Given the description of an element on the screen output the (x, y) to click on. 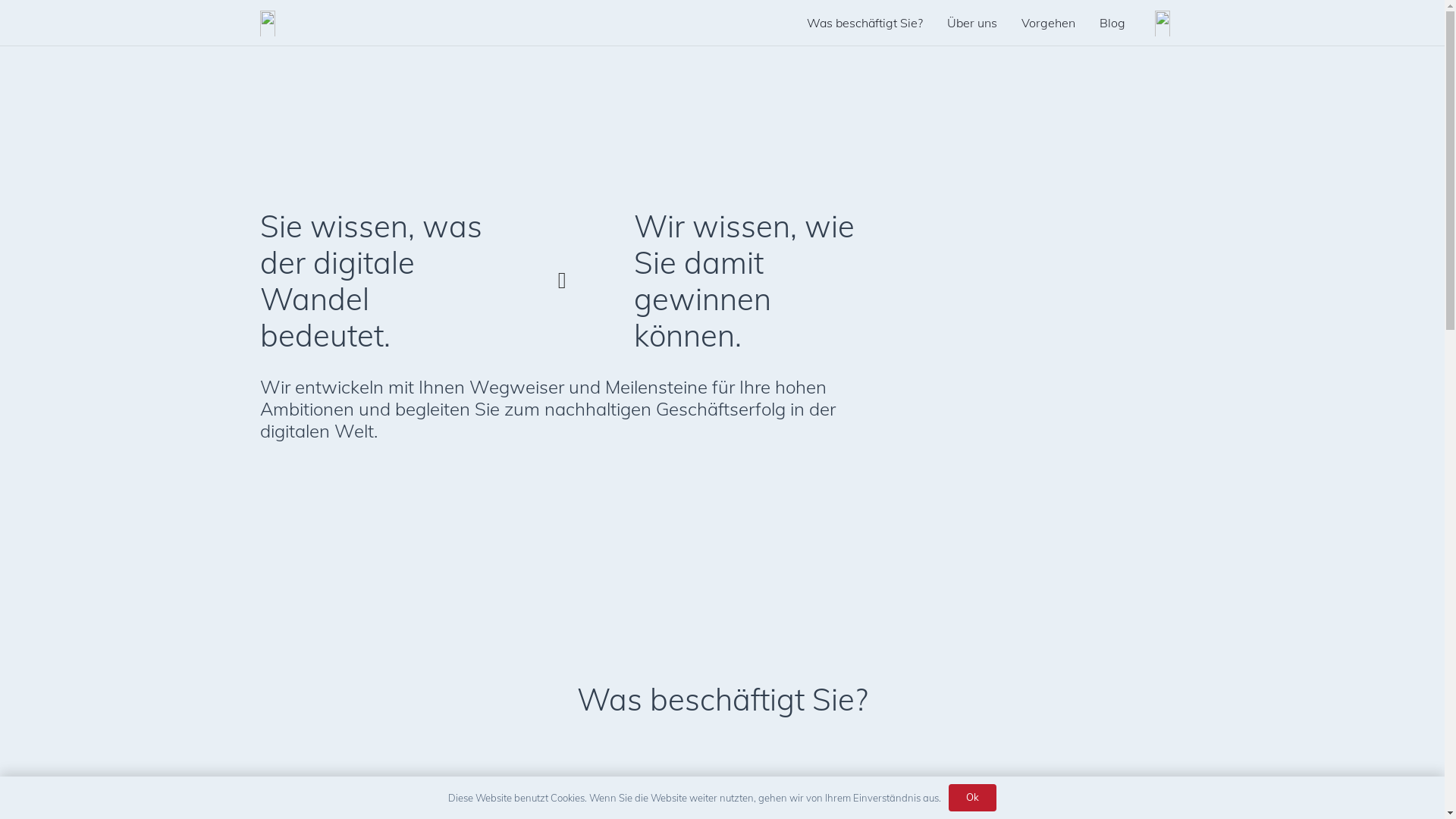
Ok Element type: text (972, 797)
Vorgehen Element type: text (1048, 22)
Blog Element type: text (1112, 22)
